Given the description of an element on the screen output the (x, y) to click on. 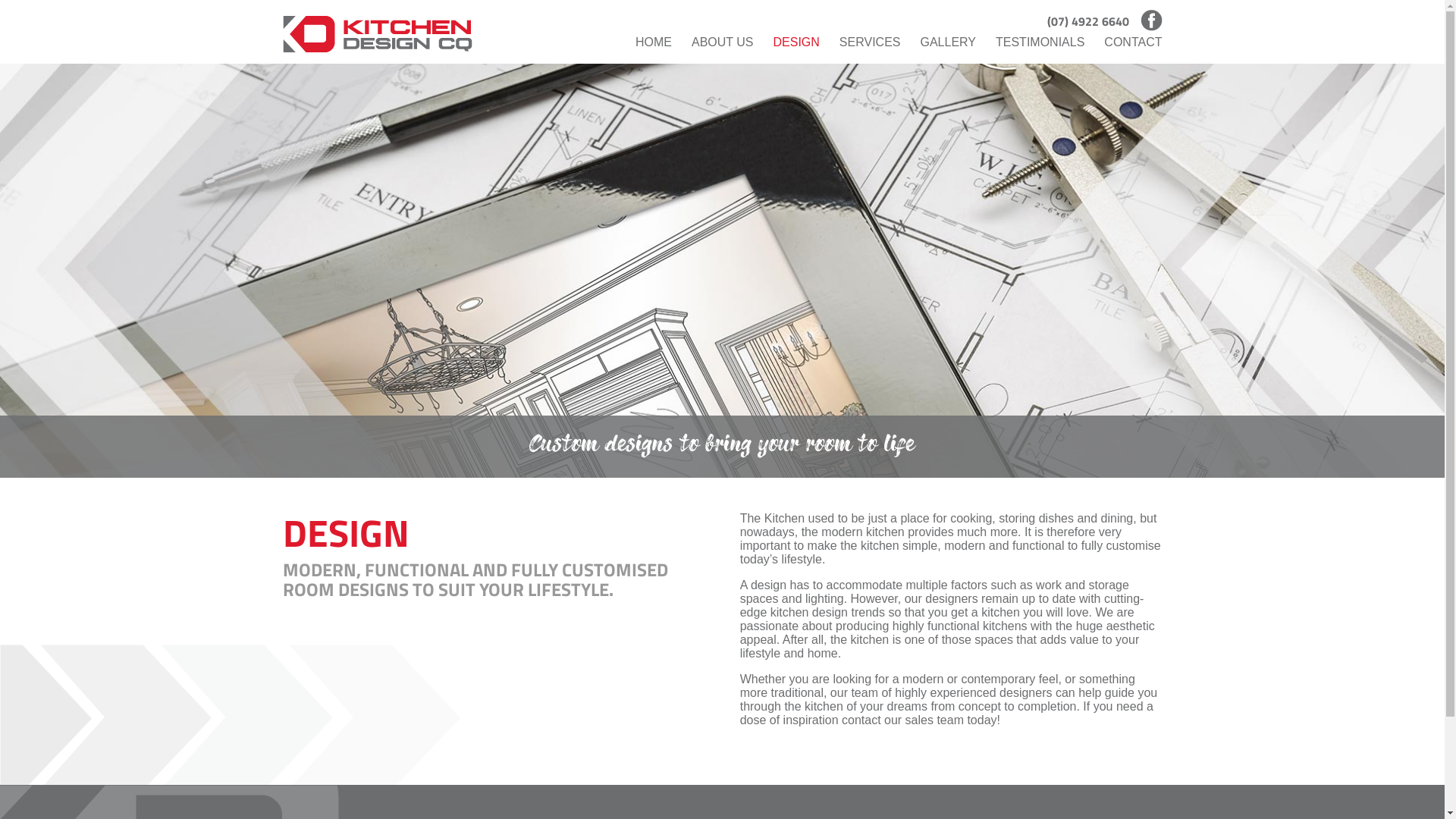
SERVICES Element type: text (869, 42)
GALLERY Element type: text (947, 42)
(07) 4922 6640 Element type: text (1087, 21)
HOME Element type: text (653, 42)
ABOUT US Element type: text (722, 42)
CONTACT Element type: text (1132, 42)
DESIGN Element type: text (795, 42)
TESTIMONIALS Element type: text (1039, 42)
